Given the description of an element on the screen output the (x, y) to click on. 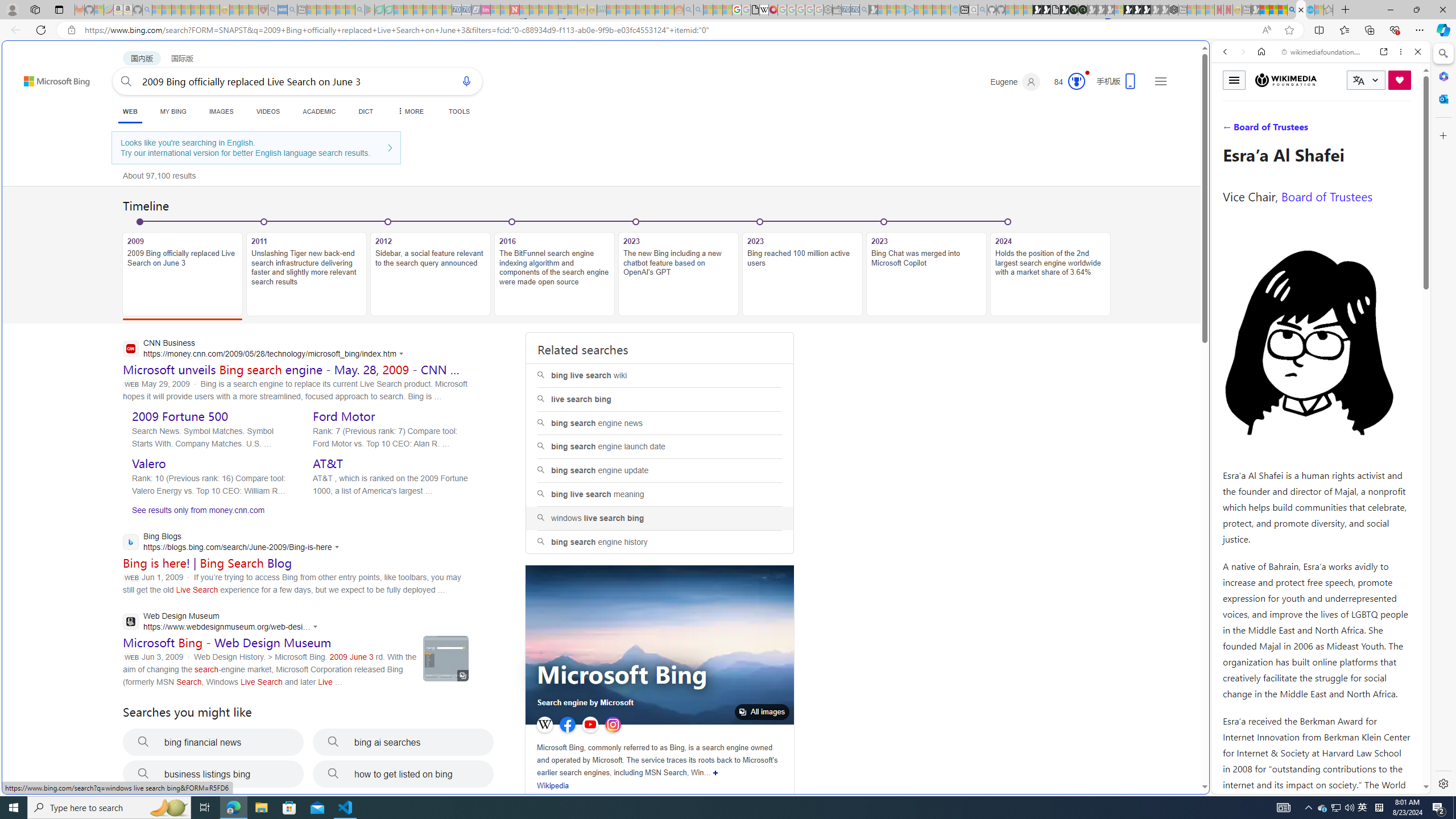
Microsoft Rewards 84 (1065, 81)
bing search engine history (659, 541)
DITOGAMES AG Imprint - Sleeping (601, 9)
Favorites - Sleeping (1328, 9)
